Given the description of an element on the screen output the (x, y) to click on. 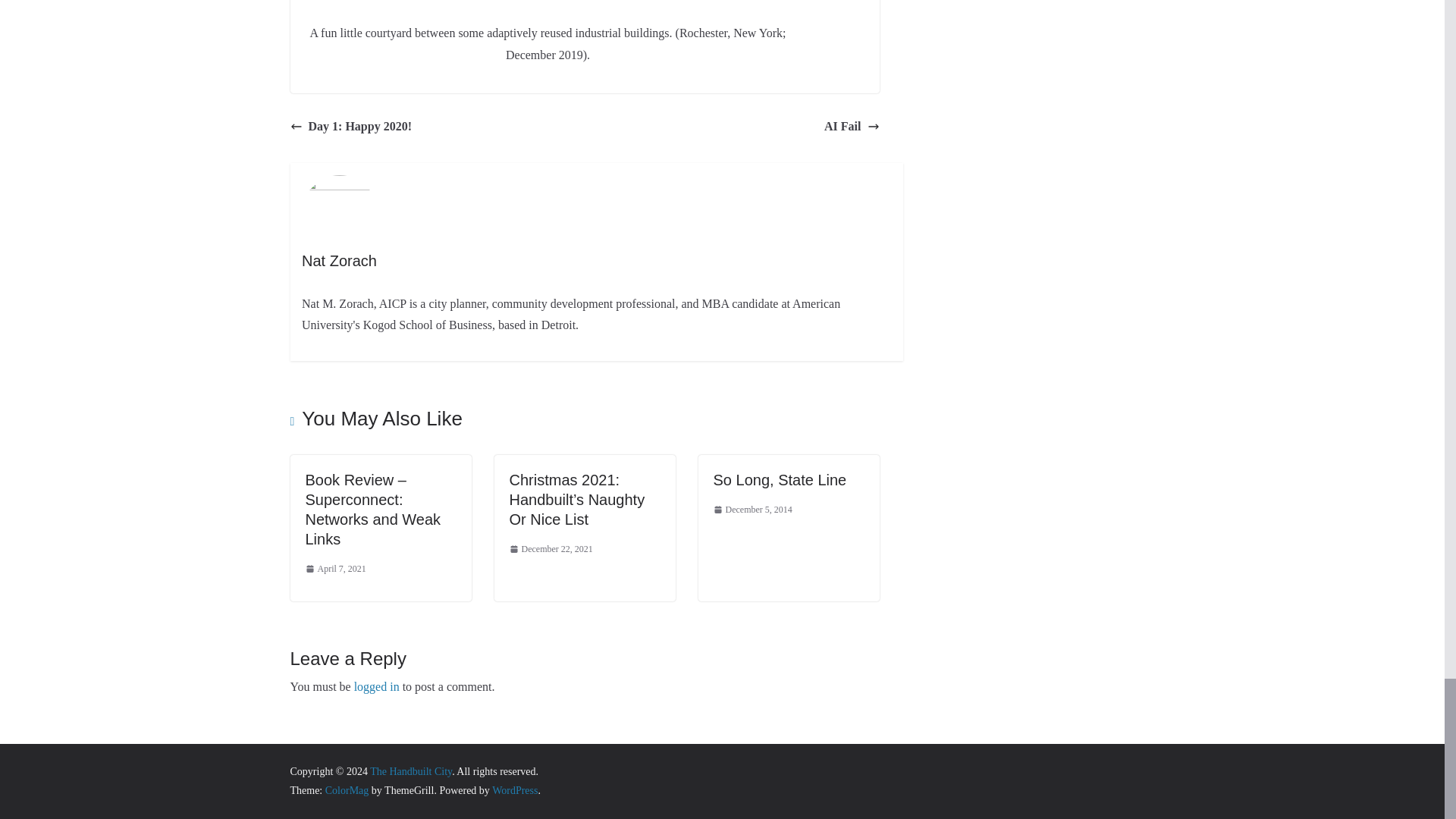
Day 1: Happy 2020! (349, 127)
December 22, 2021 (550, 549)
April 7, 2021 (334, 569)
3:51 pm (334, 569)
AI Fail (851, 127)
So Long, State Line (779, 479)
December 5, 2014 (752, 510)
